Given the description of an element on the screen output the (x, y) to click on. 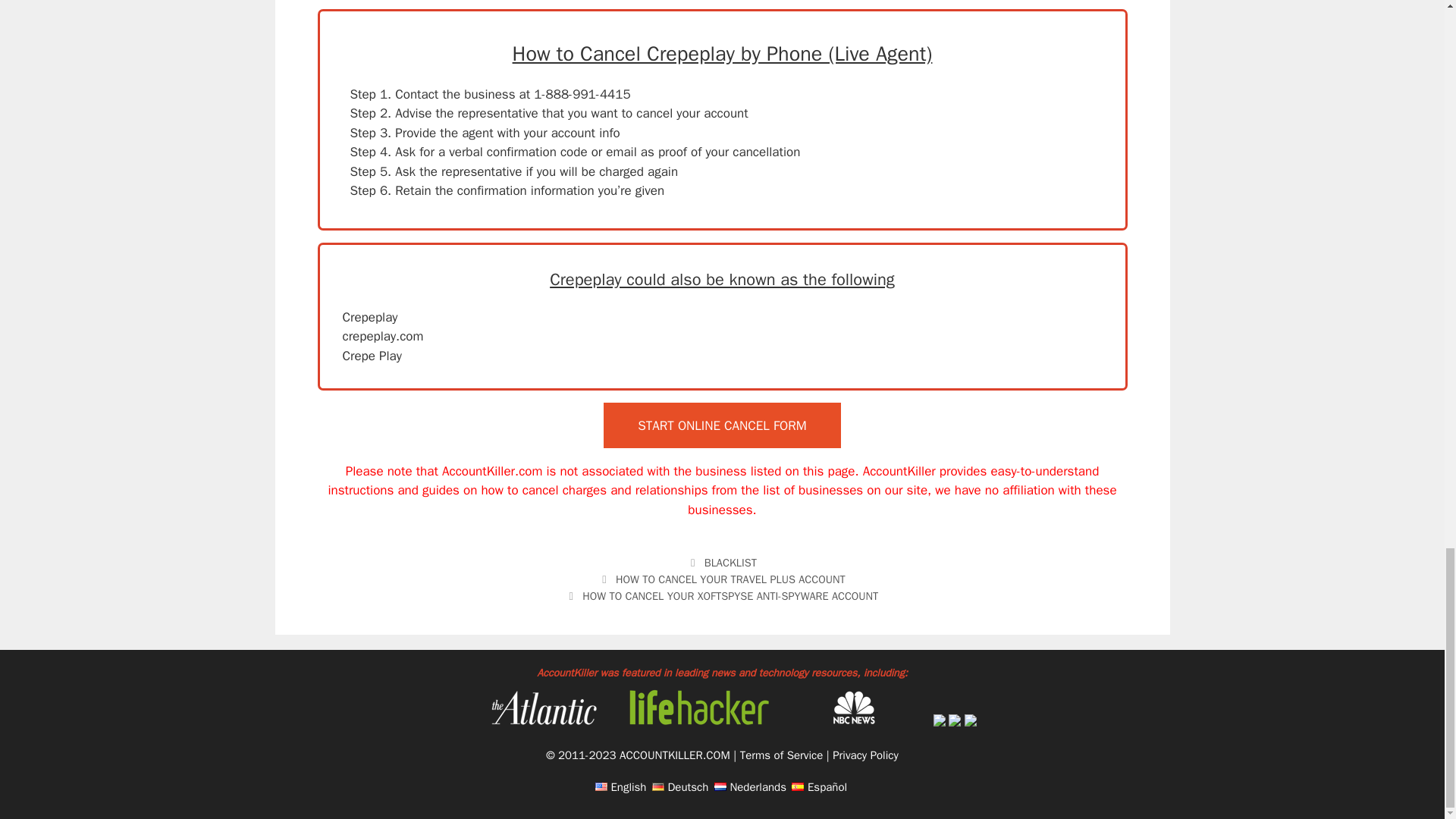
START ONLINE CANCEL FORM (722, 424)
Privacy Policy (865, 755)
English (620, 786)
HOW TO CANCEL YOUR XOFTSPYSE ANTI-SPYWARE ACCOUNT (729, 595)
Nederlands (750, 786)
Terms of Service (781, 755)
HOW TO CANCEL YOUR TRAVEL PLUS ACCOUNT (730, 579)
BLACKLIST (730, 562)
Deutsch (679, 786)
